Given the description of an element on the screen output the (x, y) to click on. 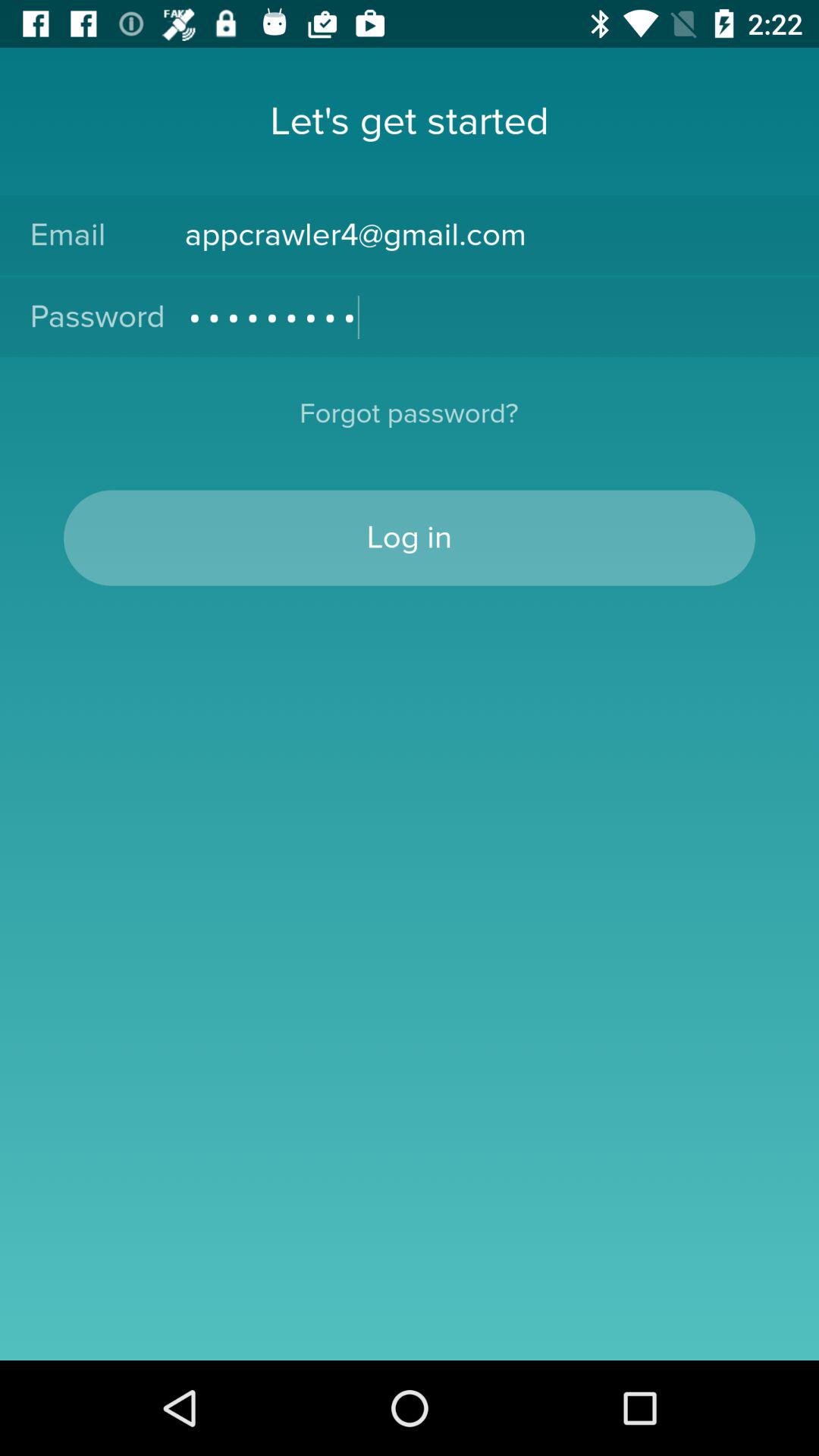
click the item at the center (409, 537)
